Given the description of an element on the screen output the (x, y) to click on. 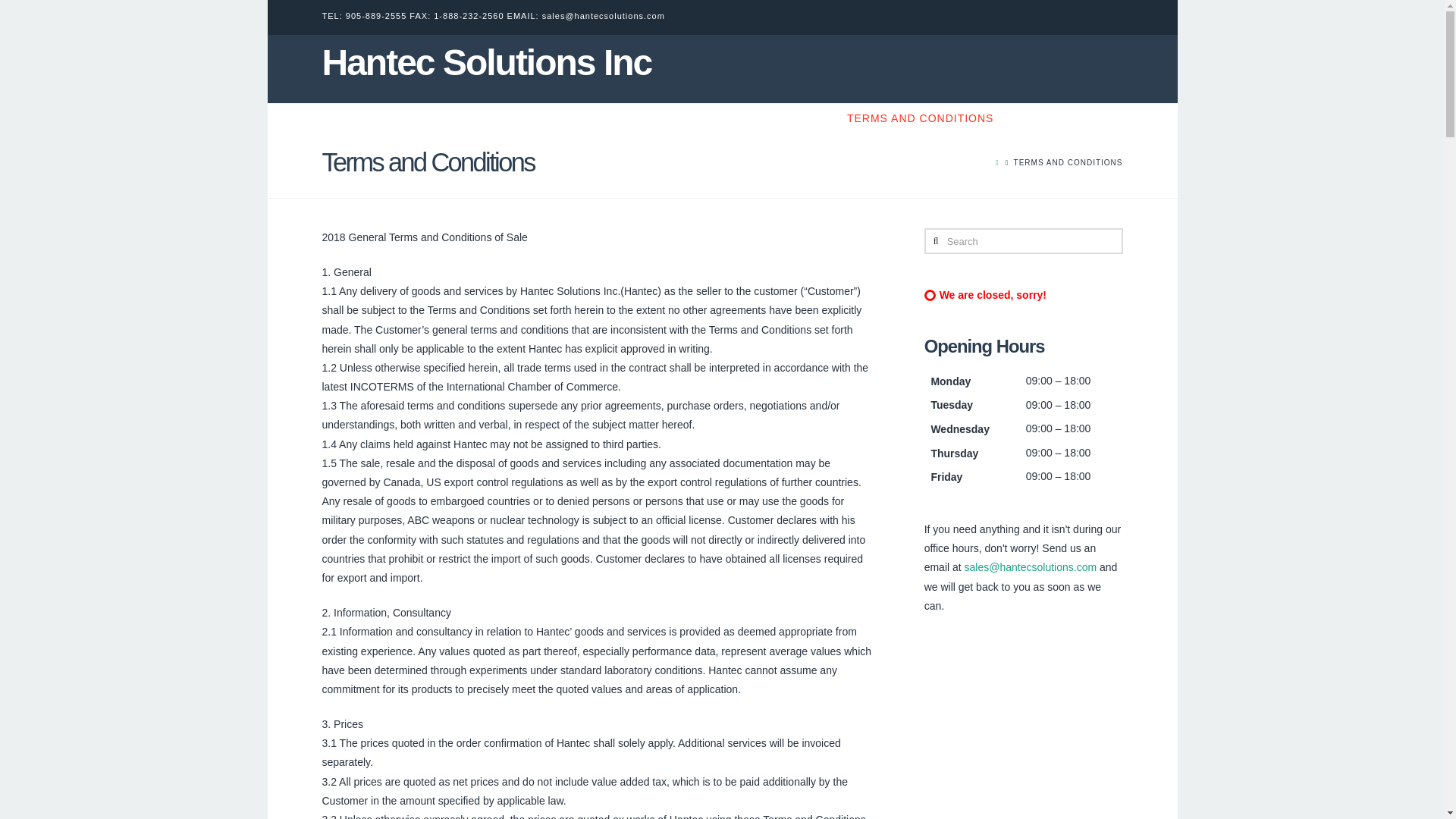
CONTACT US (787, 117)
ABOUT (708, 117)
HOME (648, 117)
TERMS AND CONDITIONS (919, 117)
Hantec Solutions Inc (485, 63)
PRODUCTS (1050, 118)
